Given the description of an element on the screen output the (x, y) to click on. 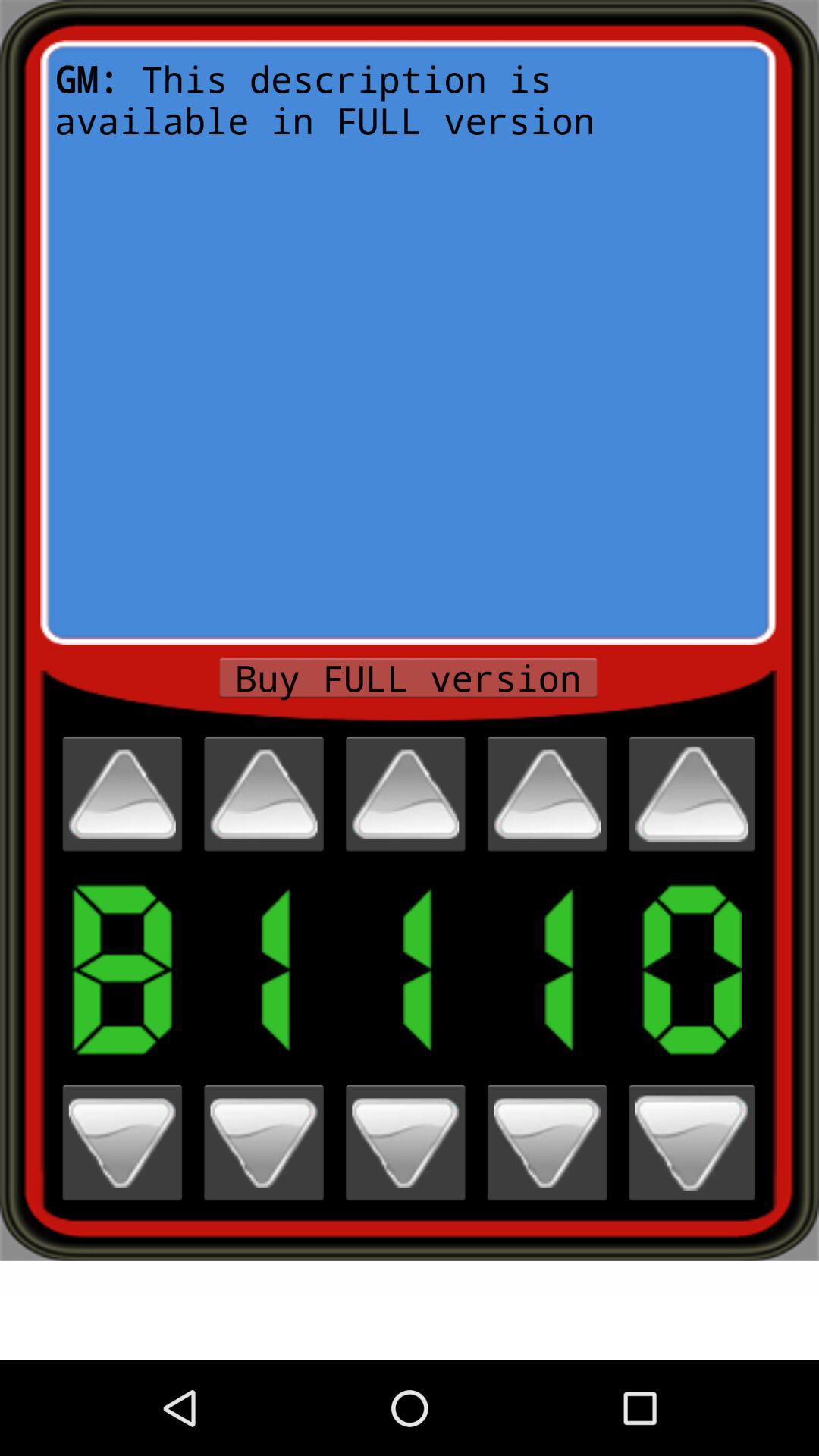
increase digit (121, 794)
